Given the description of an element on the screen output the (x, y) to click on. 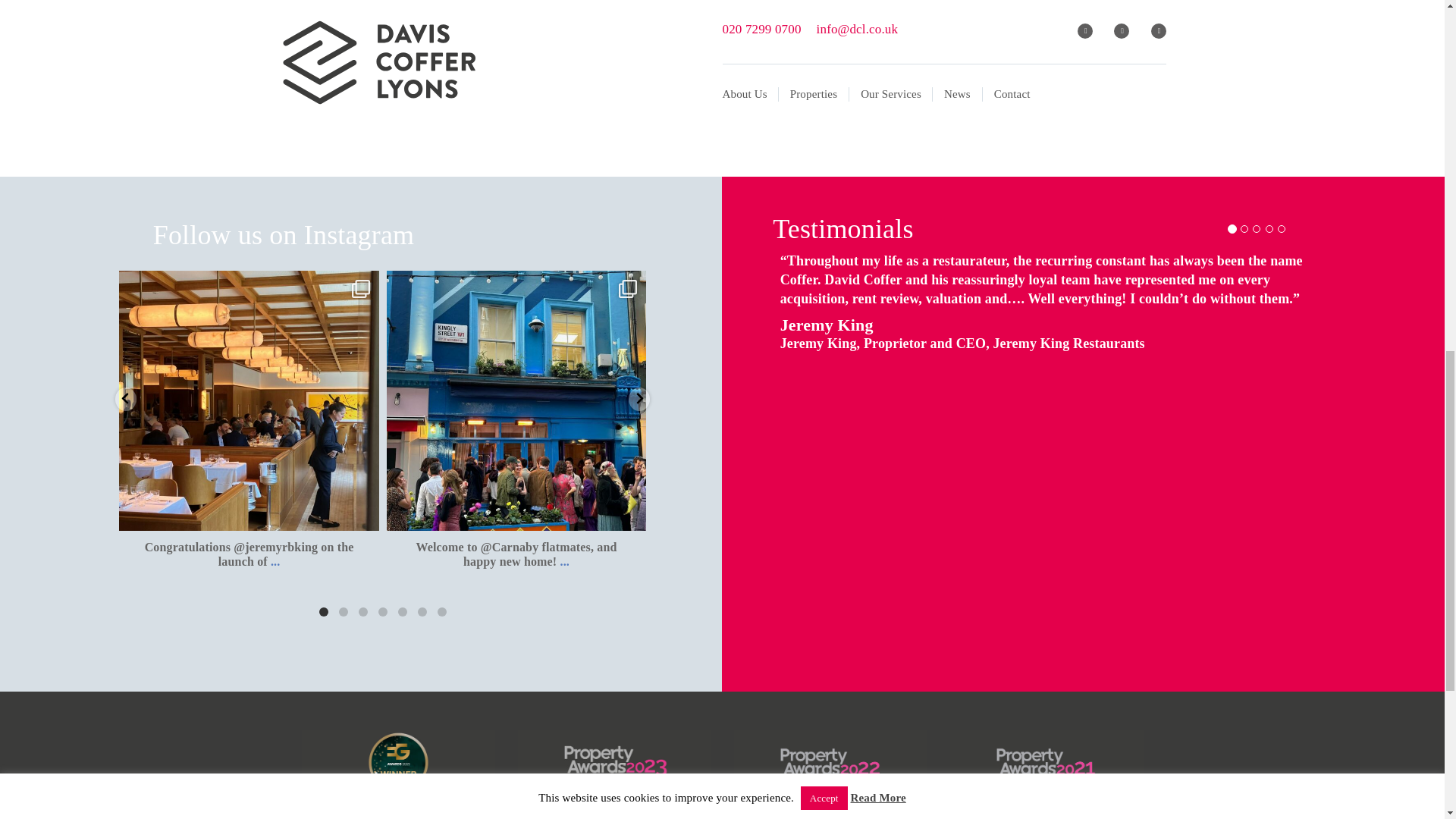
Twitter (334, 112)
More (422, 112)
Pinterest (393, 112)
Linkedin (363, 112)
... (274, 561)
Facebook (304, 112)
